Given the description of an element on the screen output the (x, y) to click on. 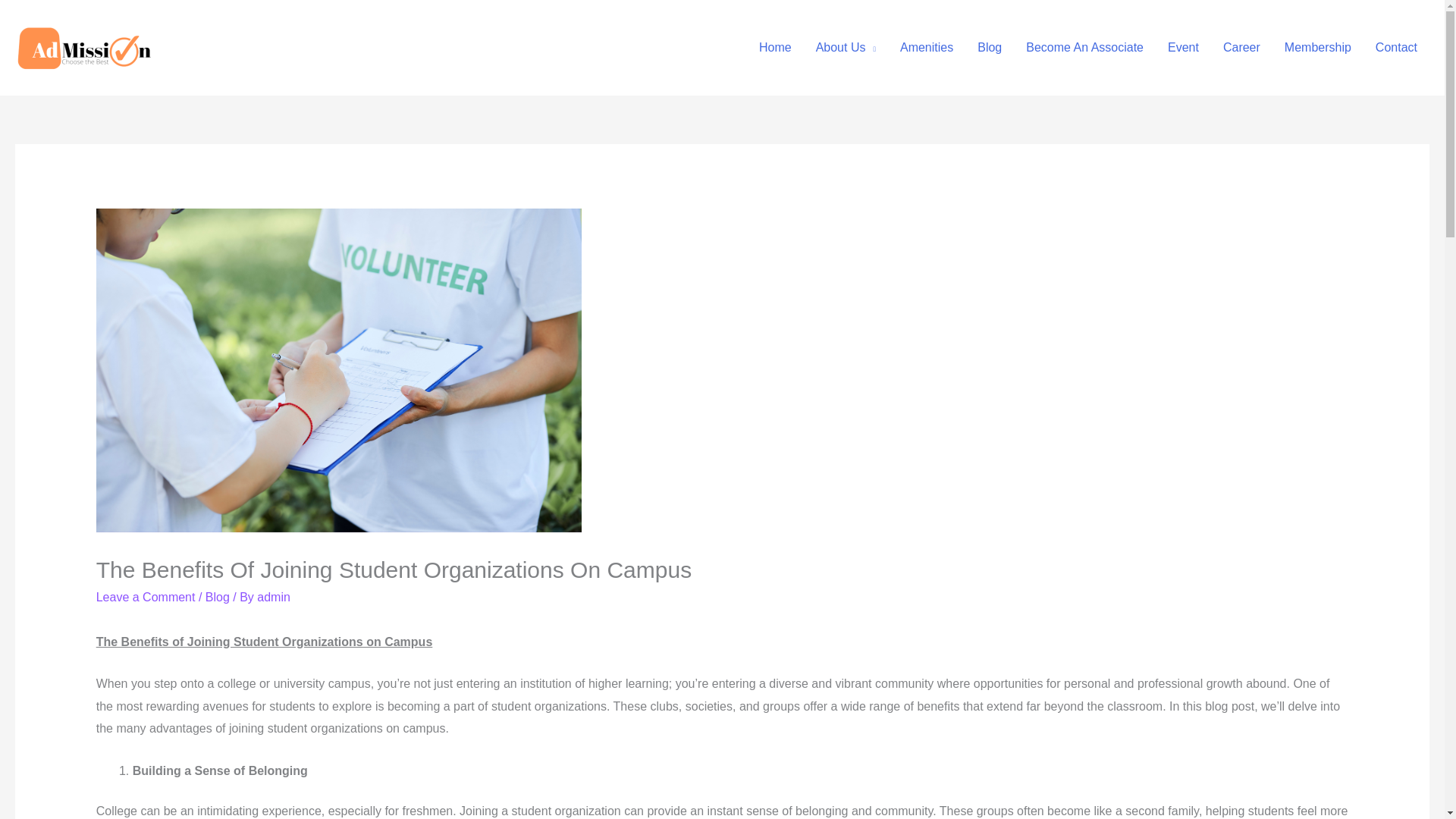
Home (774, 47)
Amenities (926, 47)
Event (1183, 47)
About Us (845, 47)
Career (1241, 47)
Contact (1395, 47)
View all posts by admin (273, 596)
Become An Associate (1084, 47)
Membership (1317, 47)
Blog (989, 47)
